Given the description of an element on the screen output the (x, y) to click on. 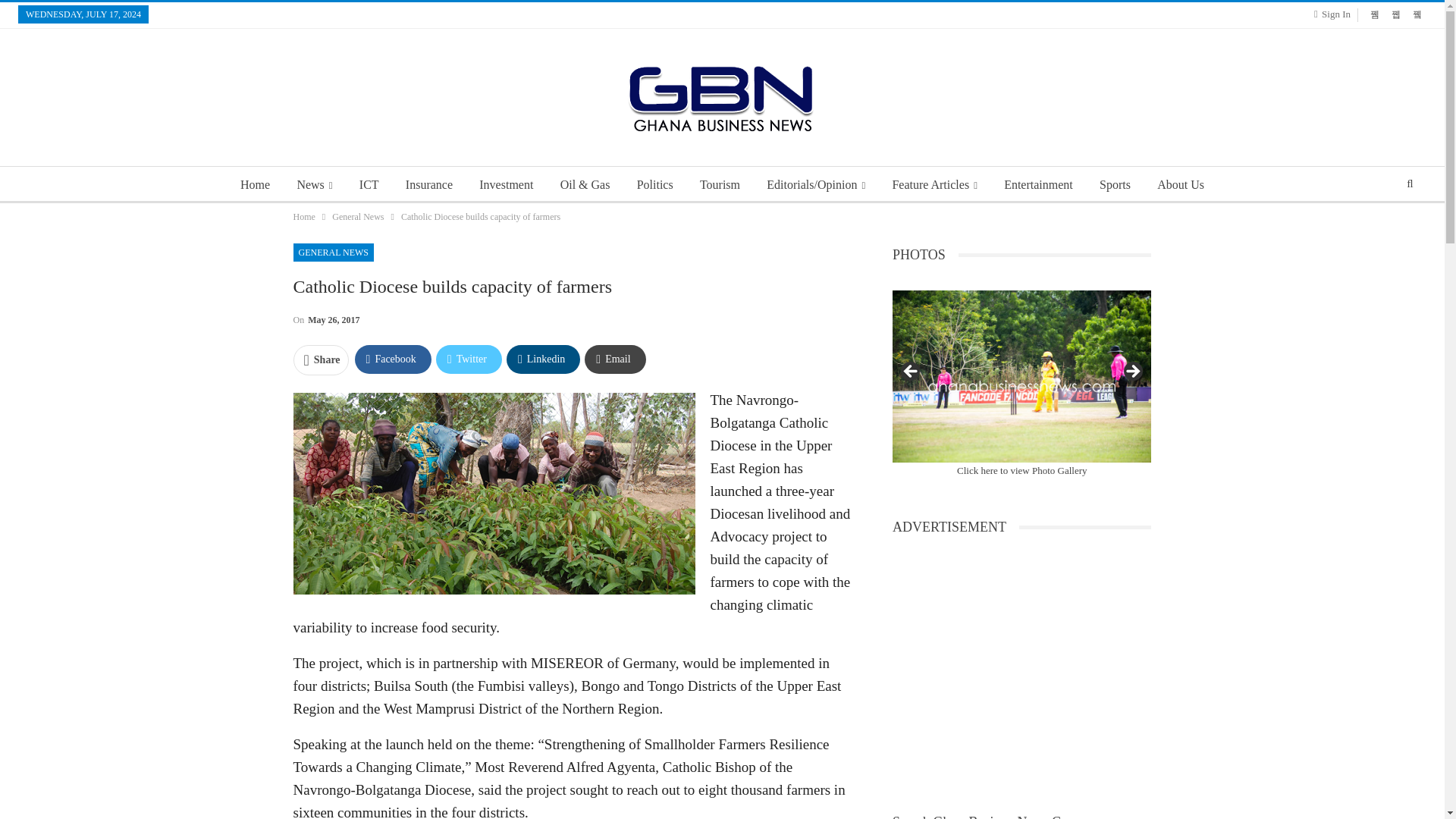
Feature Articles (934, 185)
ICT (369, 185)
Twitter (468, 358)
Entertainment (1037, 185)
Sign In (1335, 13)
Politics (654, 185)
13th-African-games-139 (1021, 376)
Insurance (428, 185)
Email (615, 358)
News (313, 185)
GENERAL NEWS (333, 252)
Tourism (719, 185)
About Us (1180, 185)
Linkedin (542, 358)
Facebook (392, 358)
